Given the description of an element on the screen output the (x, y) to click on. 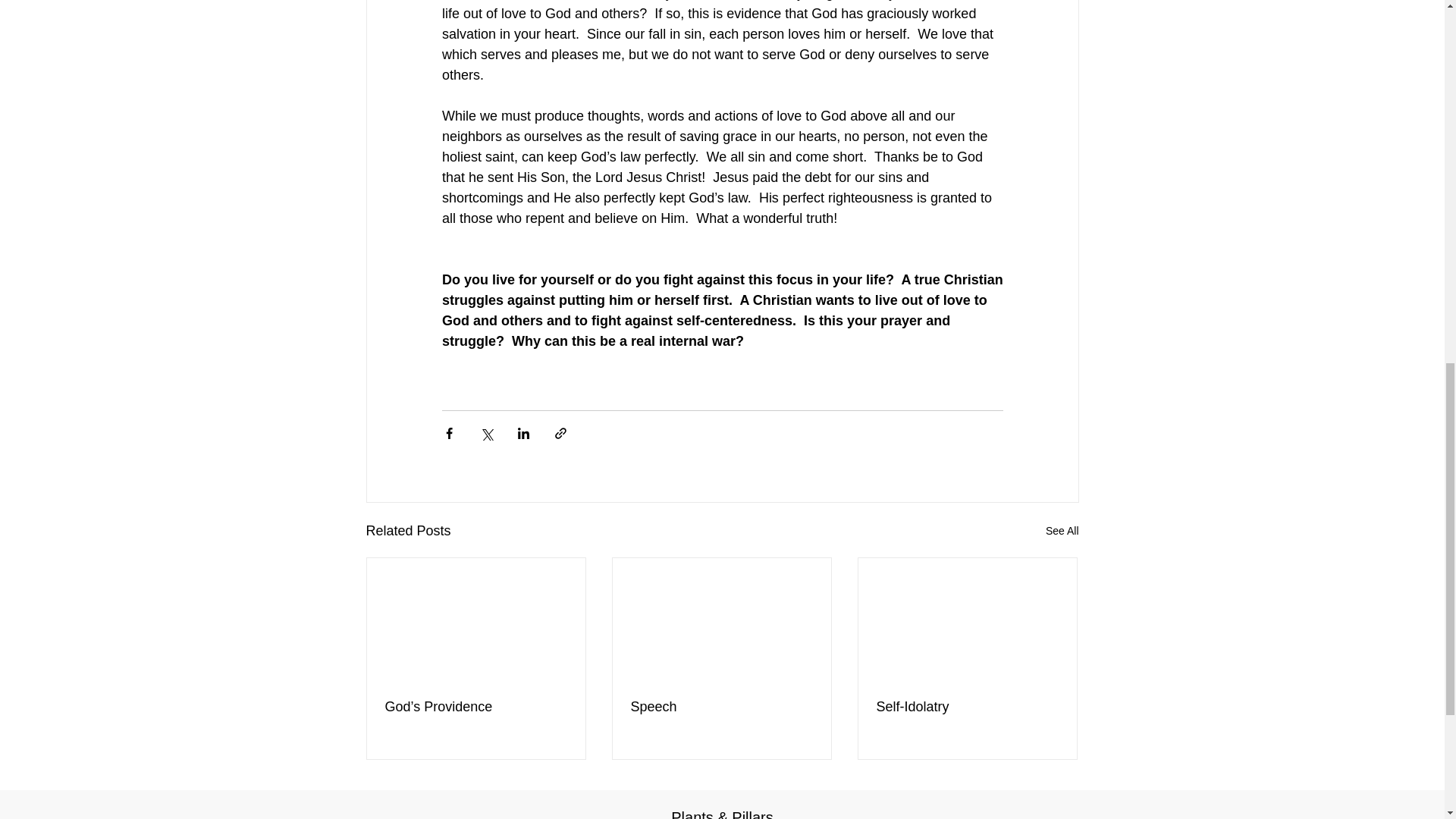
Self-Idolatry (967, 706)
See All (1061, 531)
Speech (721, 706)
